Given the description of an element on the screen output the (x, y) to click on. 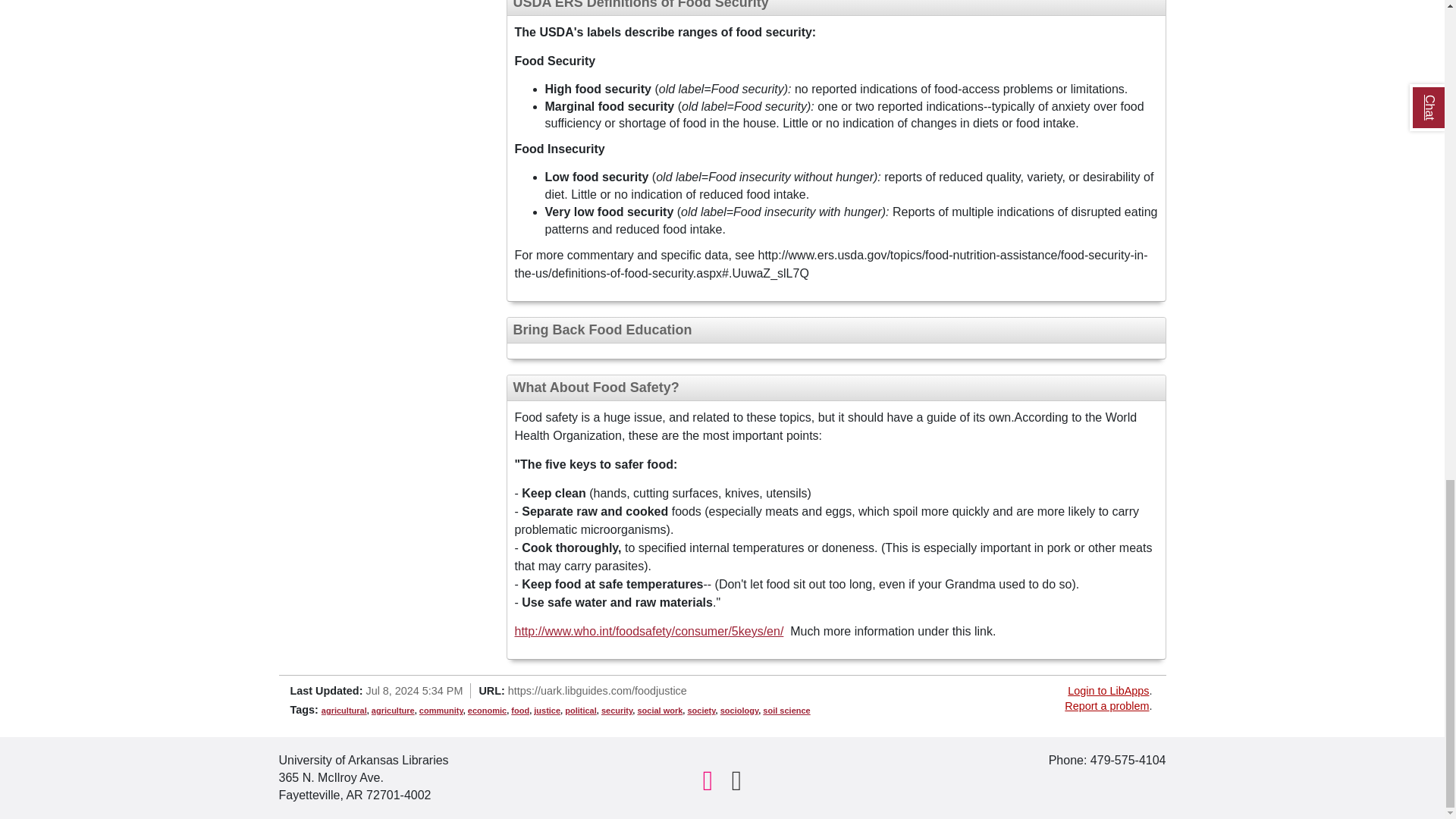
Twitter (736, 781)
Instagram (707, 781)
